Given the description of an element on the screen output the (x, y) to click on. 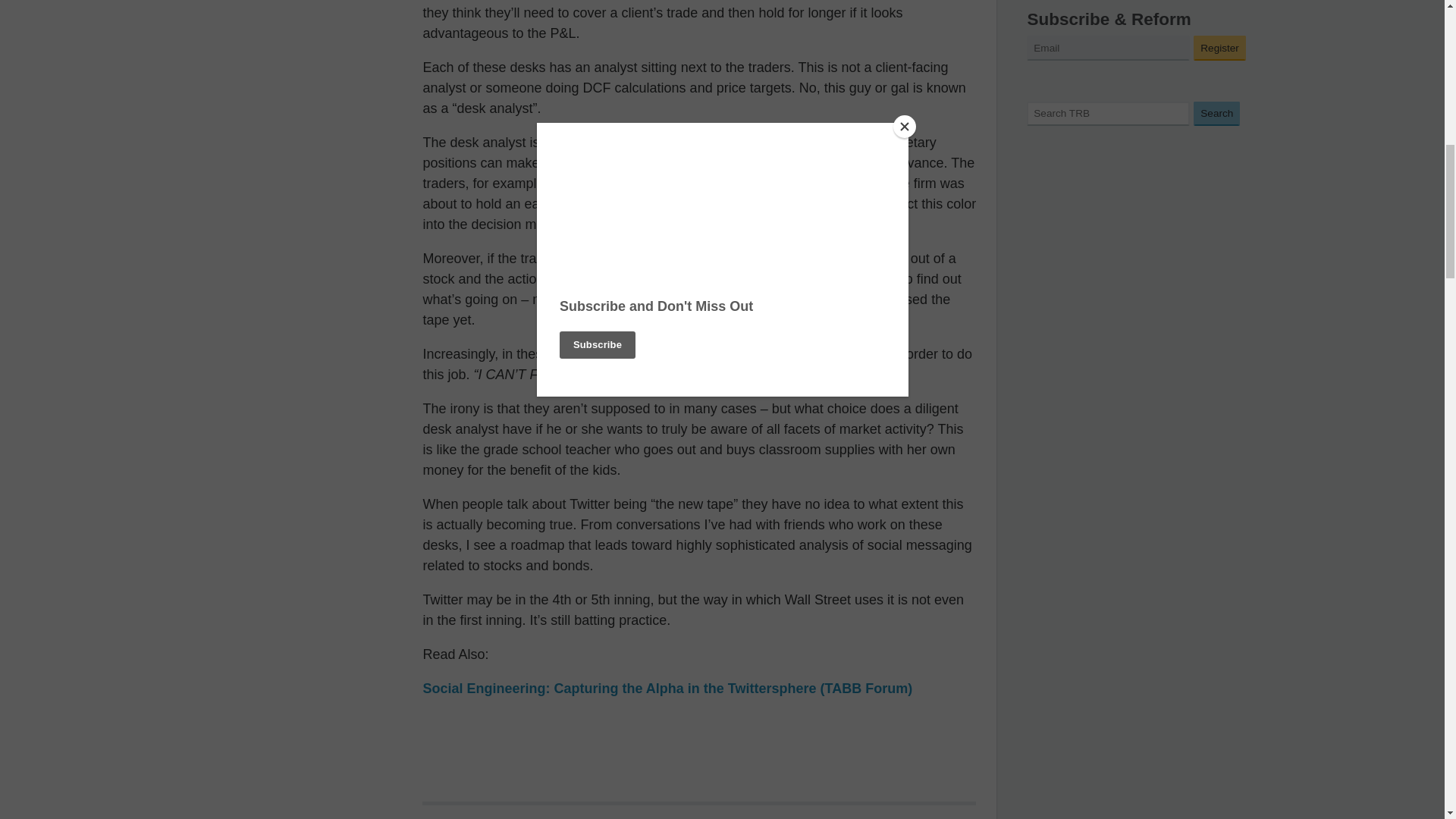
Search (1216, 113)
Register (1218, 48)
